Given the description of an element on the screen output the (x, y) to click on. 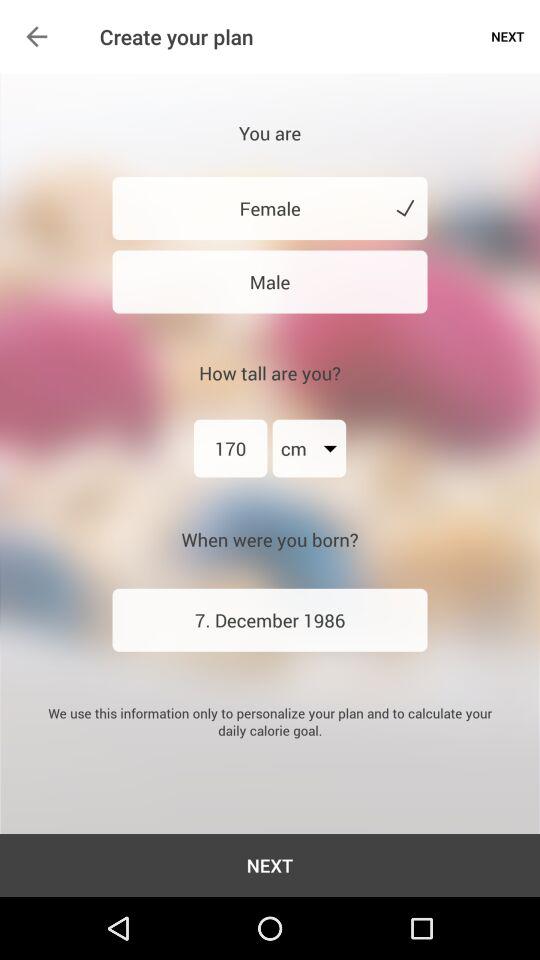
launch the icon next to 170 item (309, 448)
